Given the description of an element on the screen output the (x, y) to click on. 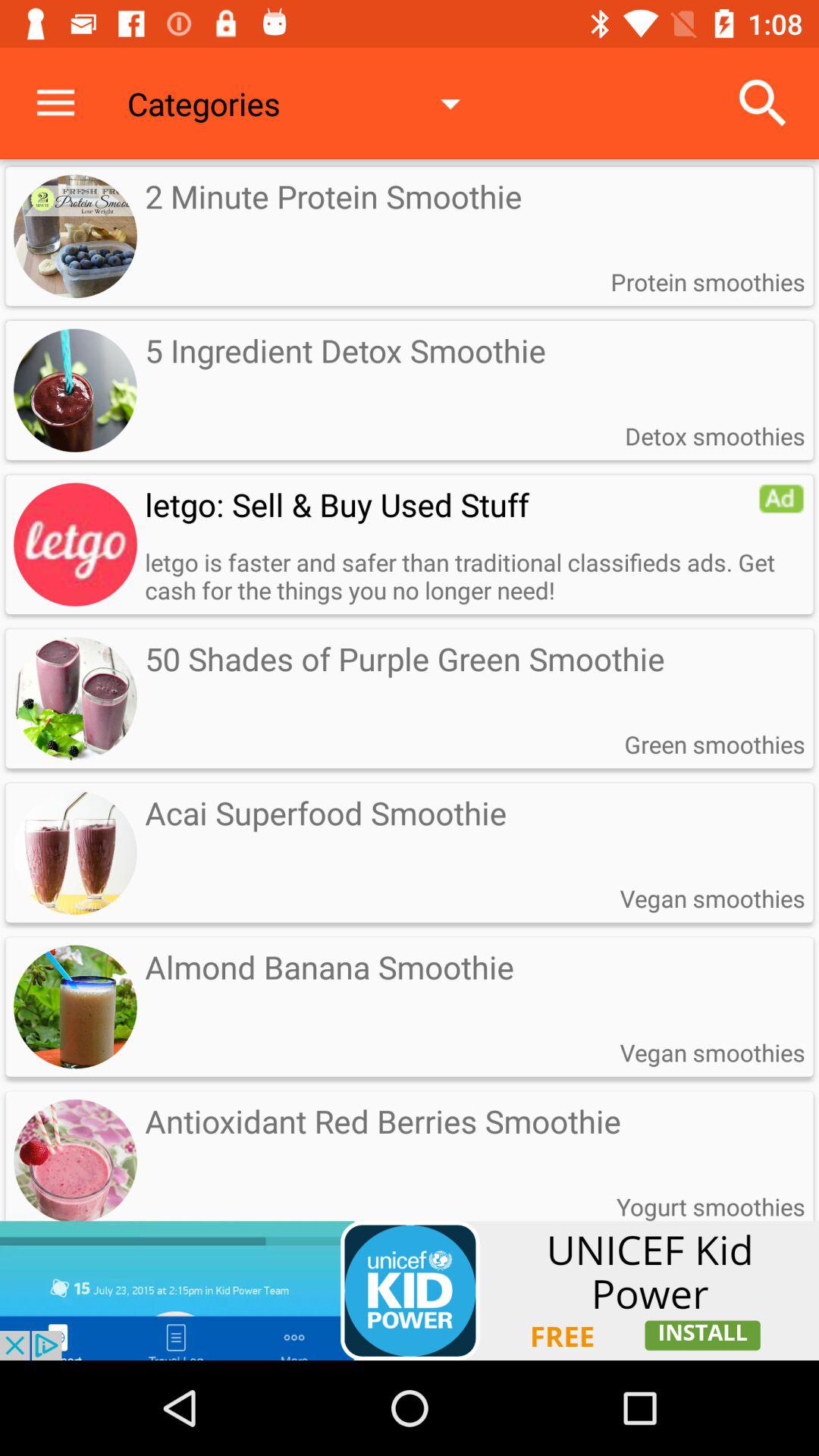
select the image on left to the text acai superfood smoothie on the web page (74, 852)
